Given the description of an element on the screen output the (x, y) to click on. 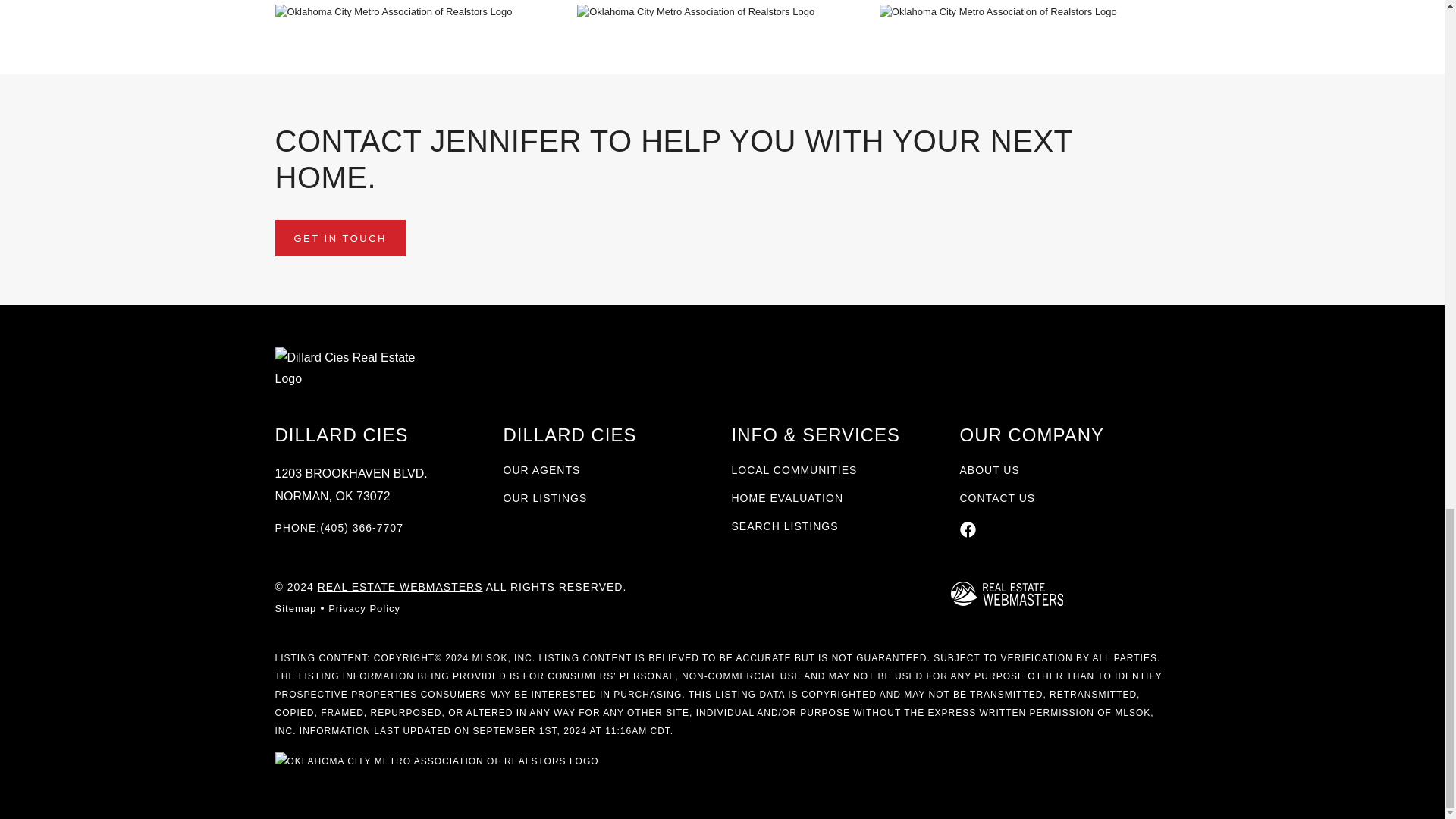
OUR AGENTS (541, 469)
GET IN TOUCH (339, 237)
HOME EVALUATION (786, 498)
SEARCH LISTINGS (784, 525)
FACEBOOK (967, 529)
OUR LISTINGS (545, 498)
LOCAL COMMUNITIES (793, 469)
